Given the description of an element on the screen output the (x, y) to click on. 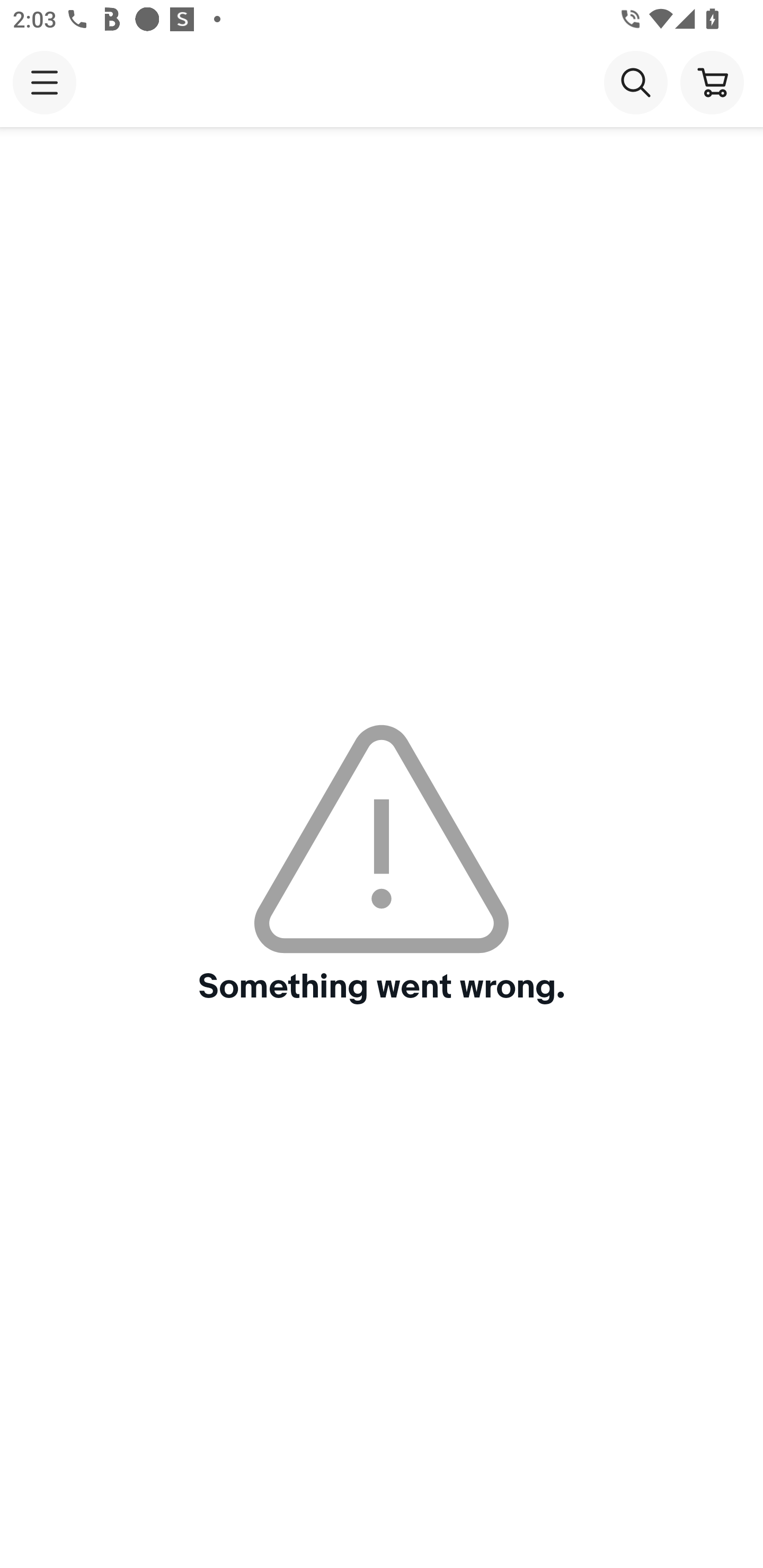
Main navigation, open (44, 82)
Search (635, 81)
Cart button shopping cart (711, 81)
